Given the description of an element on the screen output the (x, y) to click on. 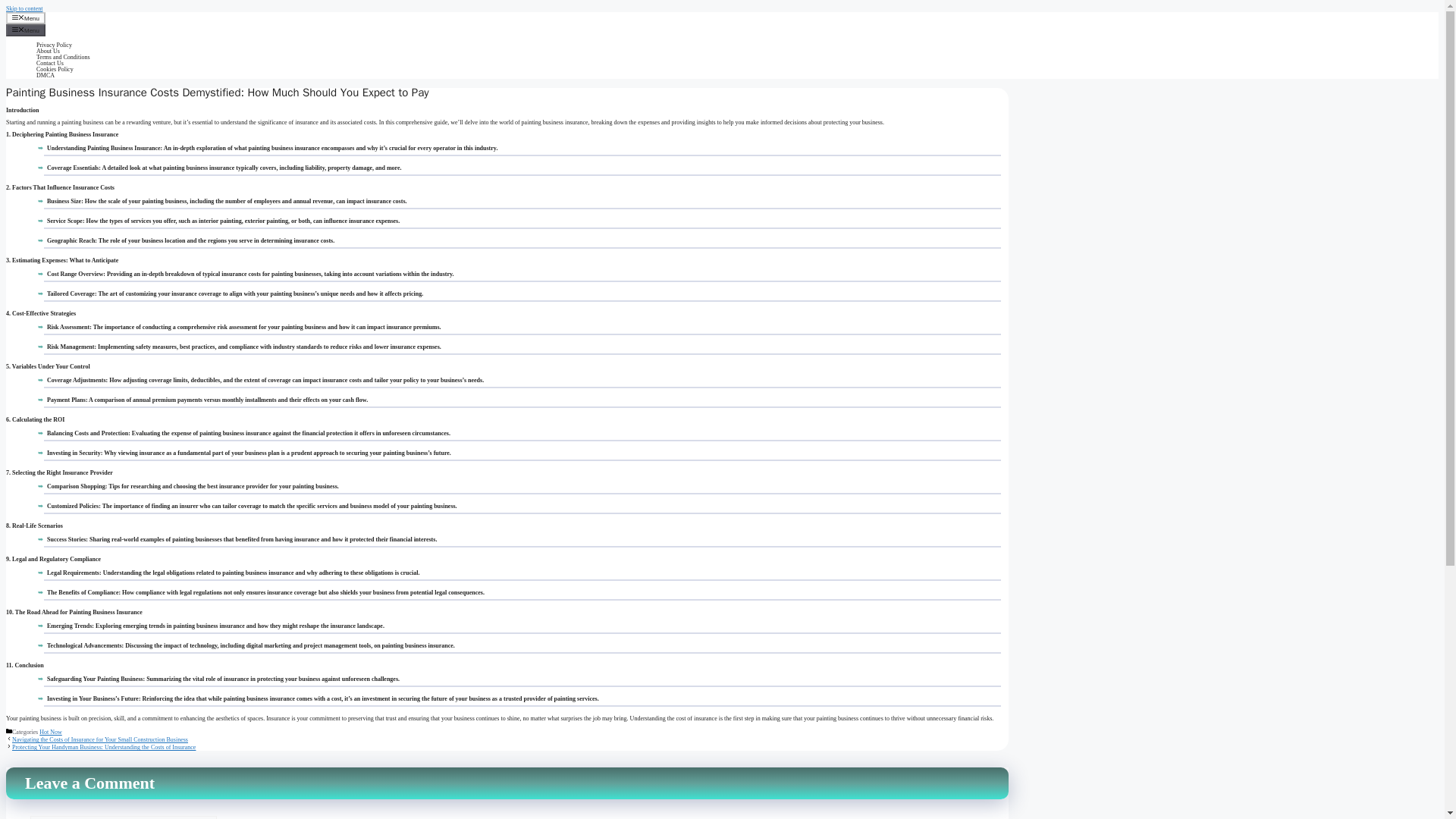
Cookies Policy (55, 69)
Menu (25, 18)
DMCA (45, 75)
Skip to content (23, 8)
Skip to content (23, 8)
Menu (25, 30)
Privacy Policy (53, 44)
Contact Us (50, 62)
Terms and Conditions (63, 57)
Hot Now (50, 731)
About Us (47, 50)
